Given the description of an element on the screen output the (x, y) to click on. 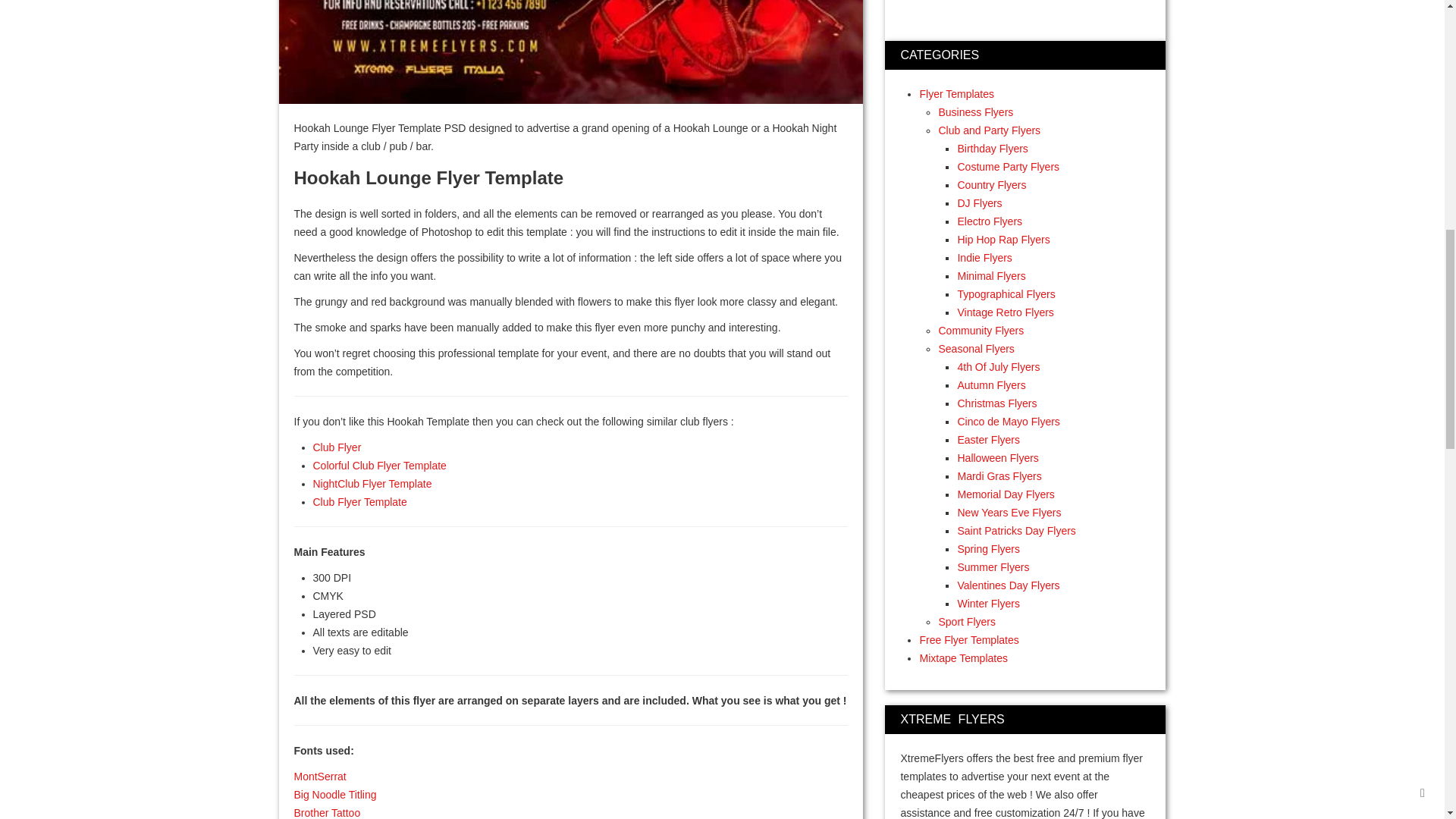
Night Club Flyer Template (371, 483)
Colorful Club Flyer Template (379, 465)
Club Flyer (337, 447)
Colorful Club Flyer Template (379, 465)
Club Flyer Template (359, 501)
Hookah Lounge Flyer Template (571, 52)
Club Flyer (337, 447)
